Given the description of an element on the screen output the (x, y) to click on. 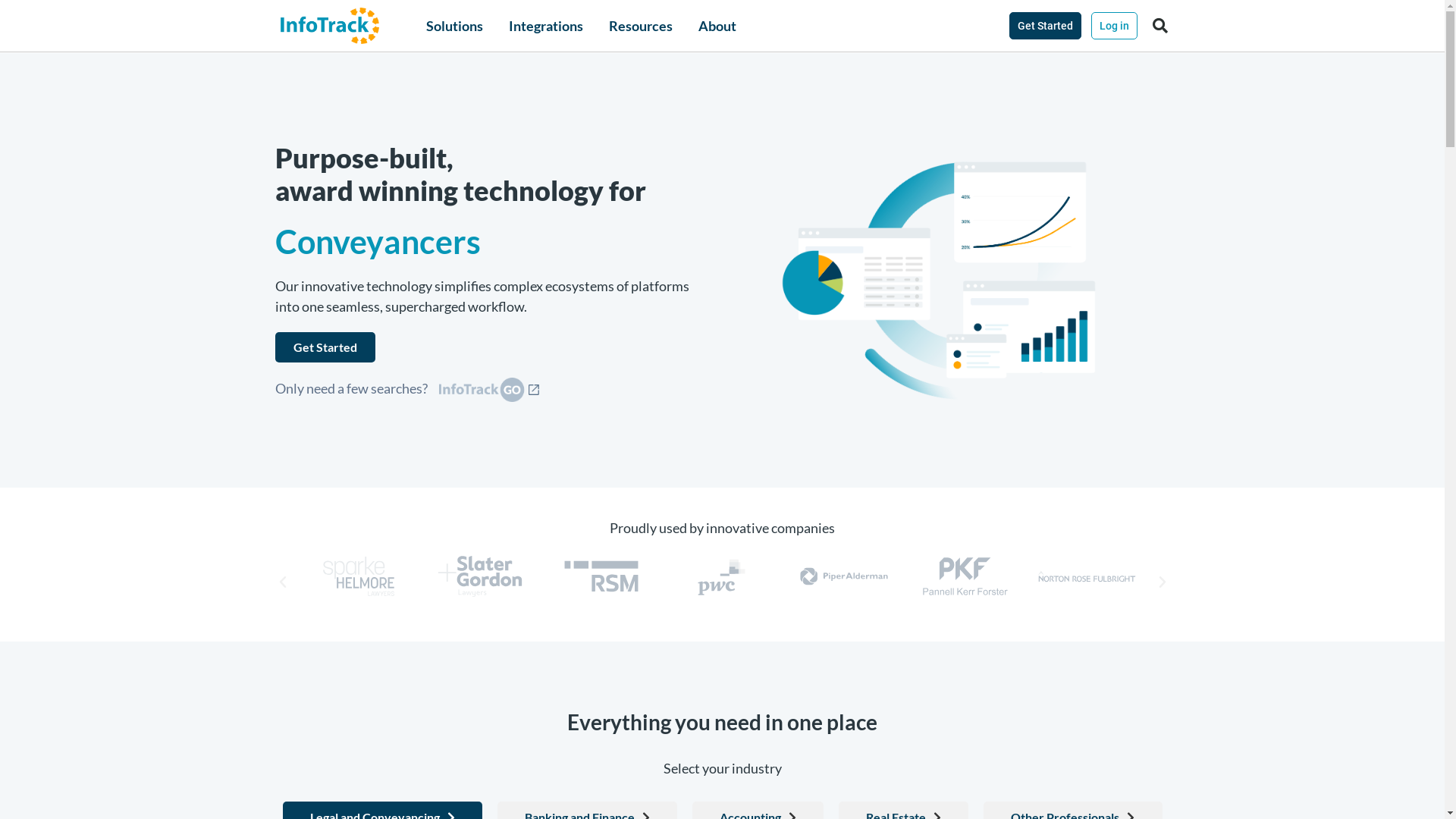
Integrations Element type: text (545, 25)
About Element type: text (717, 25)
Get Started Element type: text (1045, 25)
Resources Element type: text (640, 25)
Get Started Element type: text (324, 347)
Solutions Element type: text (454, 25)
Log in Element type: text (1114, 25)
